Given the description of an element on the screen output the (x, y) to click on. 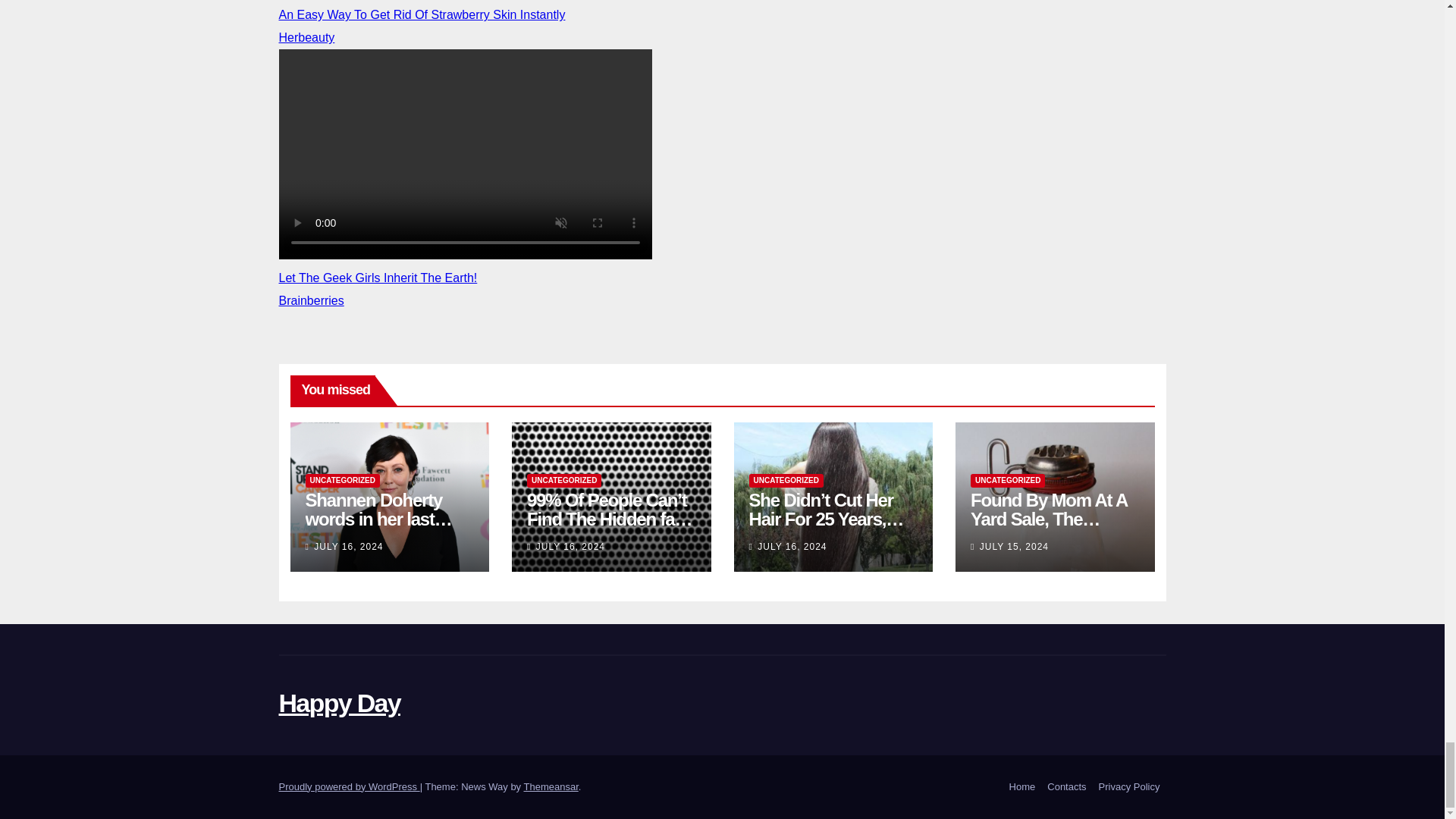
JULY 16, 2024 (570, 546)
UNCATEGORIZED (341, 480)
JULY 16, 2024 (348, 546)
Home (1022, 786)
UNCATEGORIZED (564, 480)
UNCATEGORIZED (786, 480)
